Given the description of an element on the screen output the (x, y) to click on. 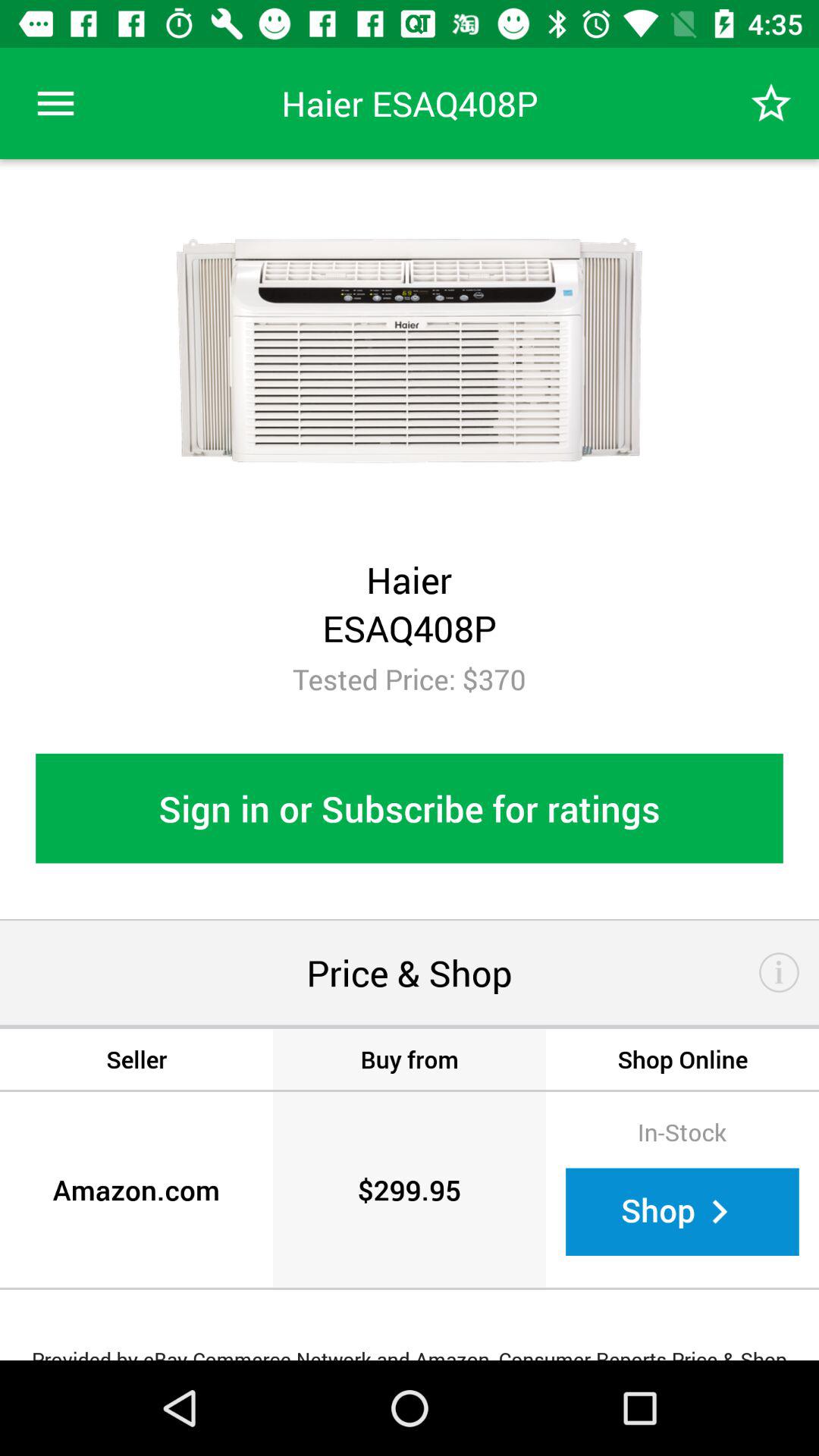
open icon at the top right corner (771, 103)
